Given the description of an element on the screen output the (x, y) to click on. 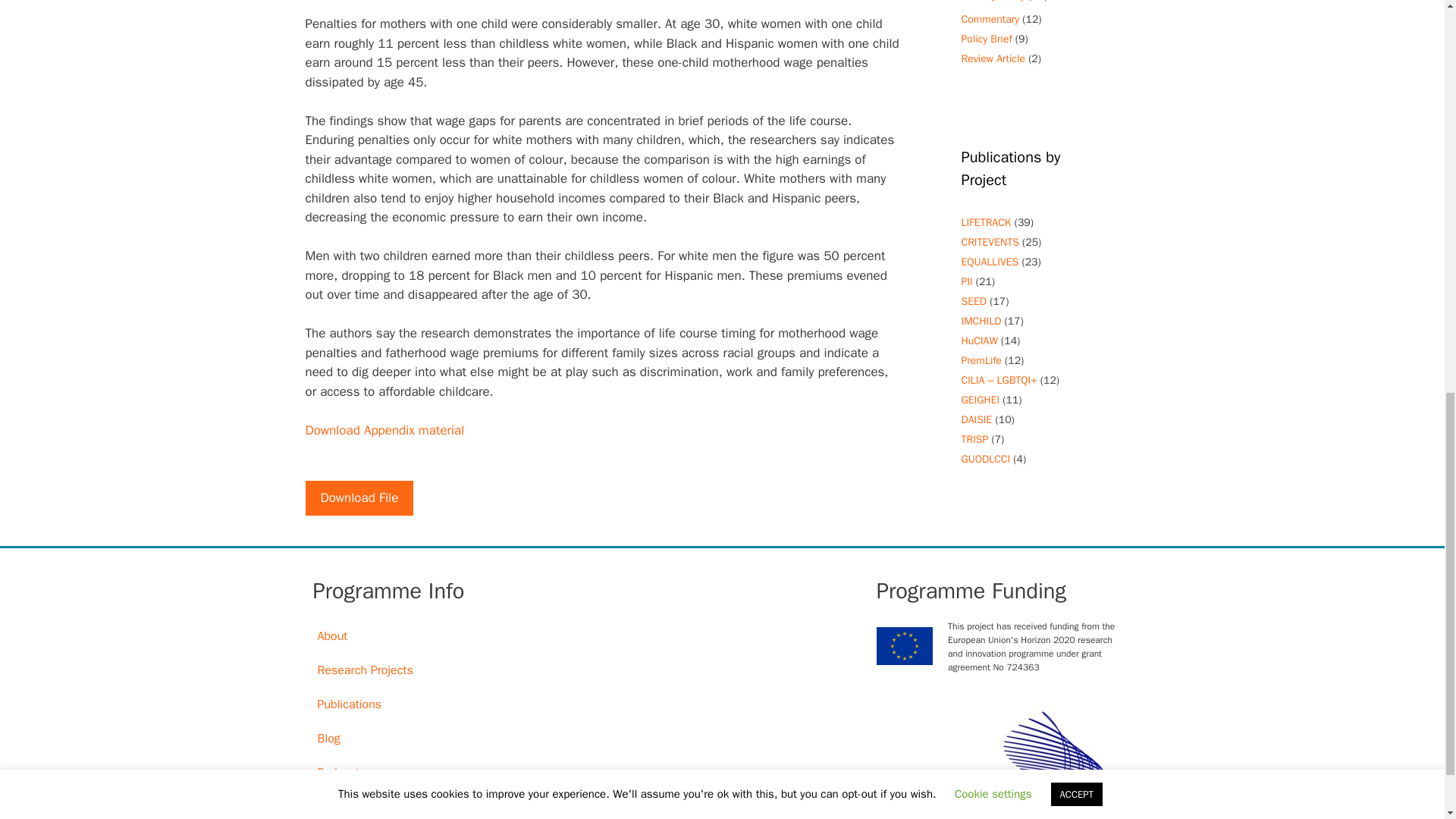
Download Appendix material (384, 430)
Trends in Inequality: Sources and Policy (974, 439)
Life-Course Dynamics of Educational Tracking (985, 222)
norface-logo-large-with-title (999, 760)
Download File (358, 497)
